Given the description of an element on the screen output the (x, y) to click on. 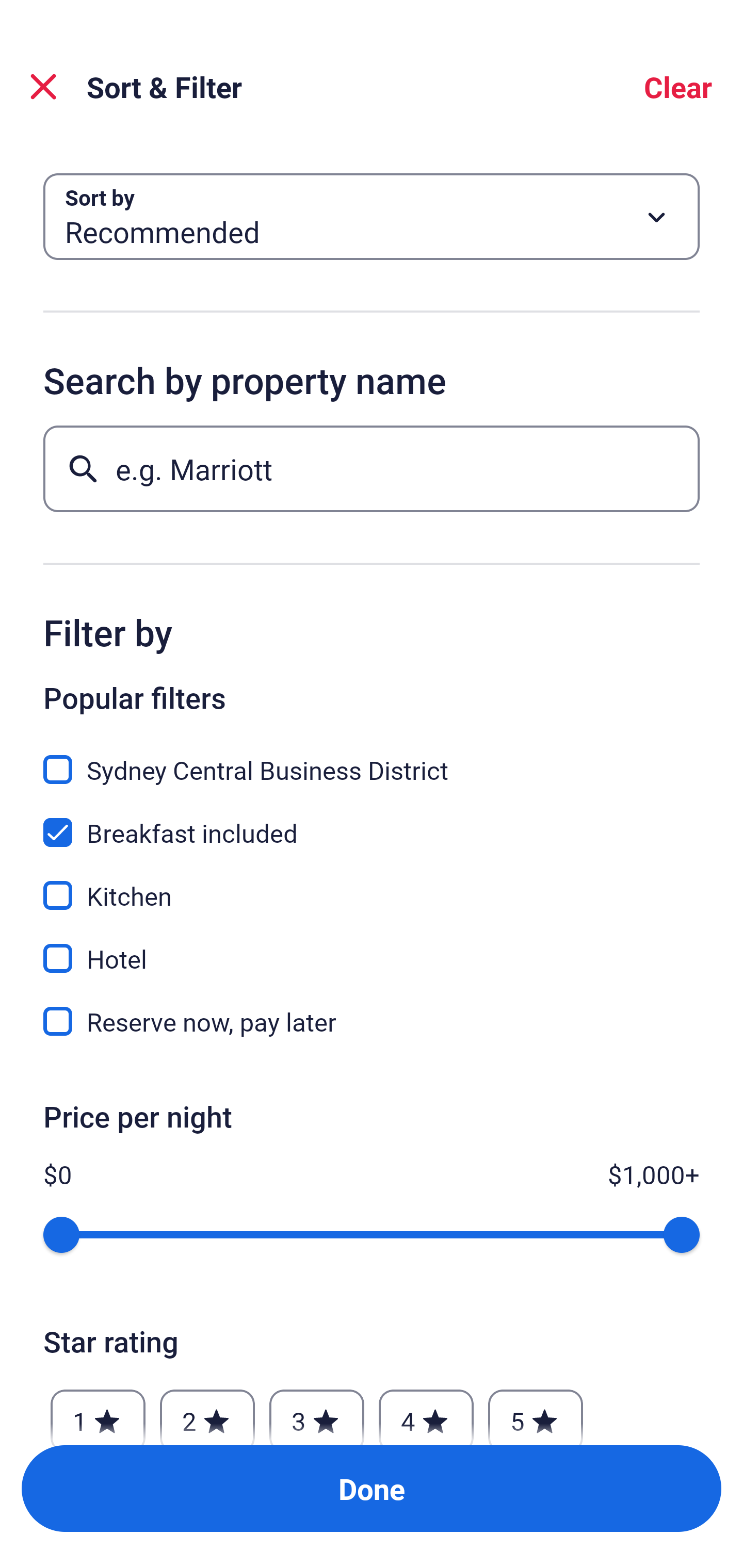
Close Sort and Filter (43, 86)
Clear (677, 86)
Sort by Button Recommended (371, 217)
e.g. Marriott Button (371, 468)
Breakfast included, Breakfast included (371, 821)
Kitchen, Kitchen (371, 883)
Hotel, Hotel (371, 946)
Reserve now, pay later, Reserve now, pay later (371, 1021)
1 (97, 1411)
2 (206, 1411)
3 (316, 1411)
4 (426, 1411)
5 (535, 1411)
Apply and close Sort and Filter Done (371, 1488)
